Given the description of an element on the screen output the (x, y) to click on. 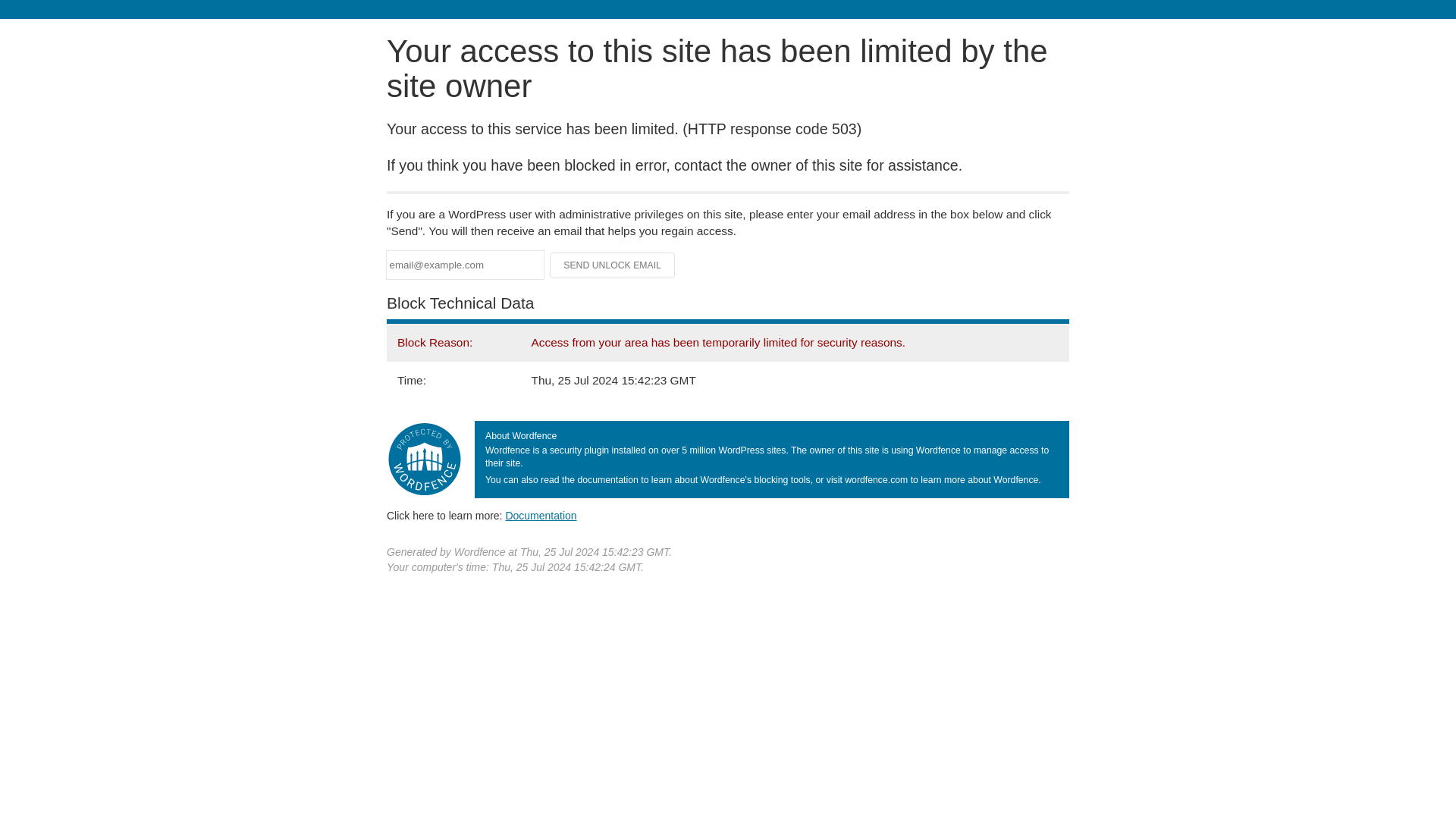
Send Unlock Email (612, 265)
Documentation (540, 515)
Send Unlock Email (612, 265)
